Given the description of an element on the screen output the (x, y) to click on. 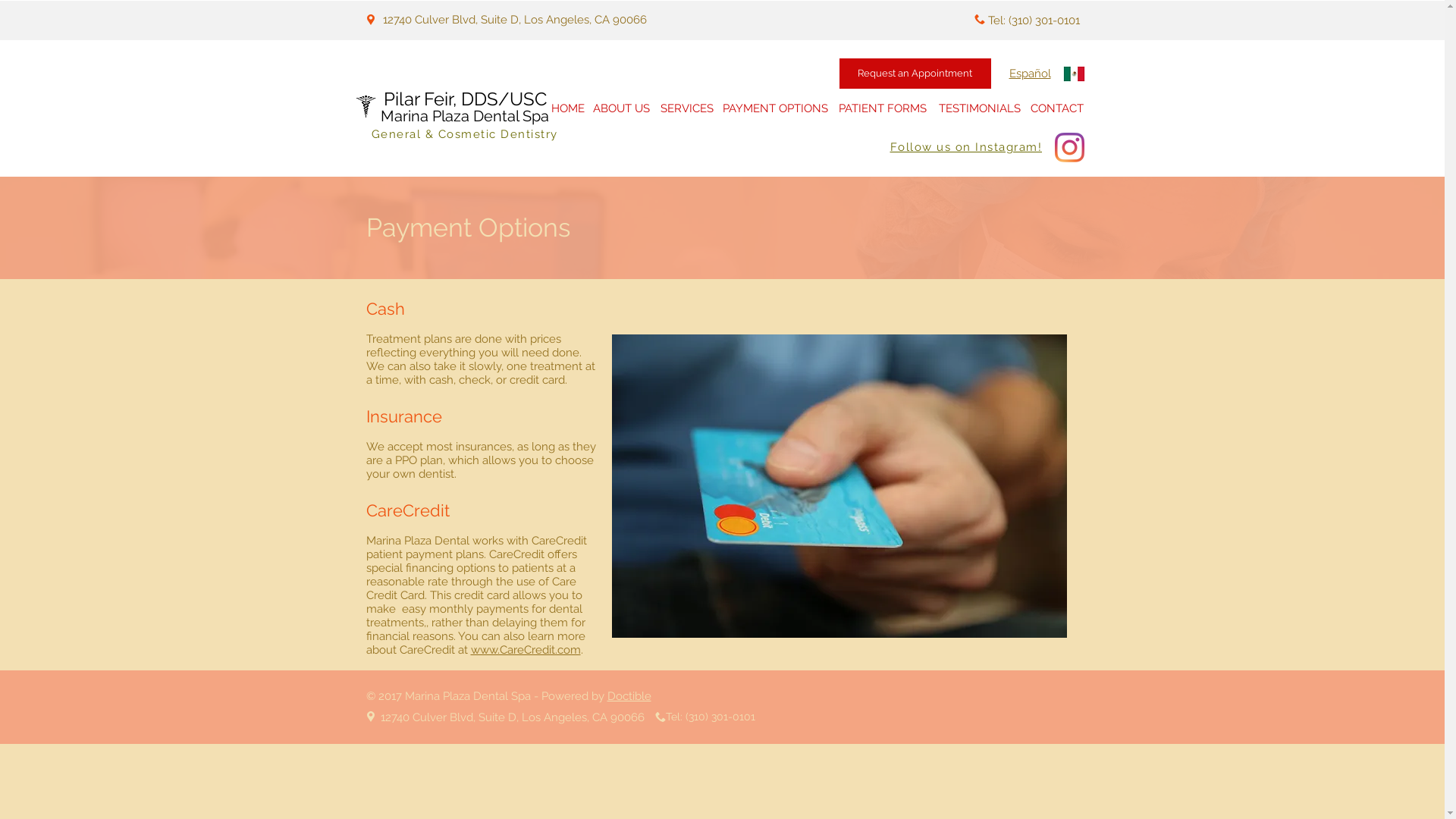
General & Cosmetic Dentistry Element type: text (464, 134)
CONTACT Element type: text (1056, 108)
PATIENT FORMS Element type: text (883, 108)
Request an Appointment Element type: text (914, 73)
ABOUT US Element type: text (621, 108)
Marina Plaza  Element type: text (426, 115)
www.CareCredit.com Element type: text (525, 649)
Marina logo BLACK.png Element type: hover (364, 106)
Pilar Feir, DDS/USC Element type: text (464, 98)
TESTIMONIALS Element type: text (978, 108)
Doctible Element type: text (628, 695)
SERVICES Element type: text (686, 108)
PAYMENT OPTIONS Element type: text (774, 108)
HOME Element type: text (567, 108)
Dental Spa Element type: text (511, 115)
Follow us on Instagram! Element type: text (966, 146)
